Given the description of an element on the screen output the (x, y) to click on. 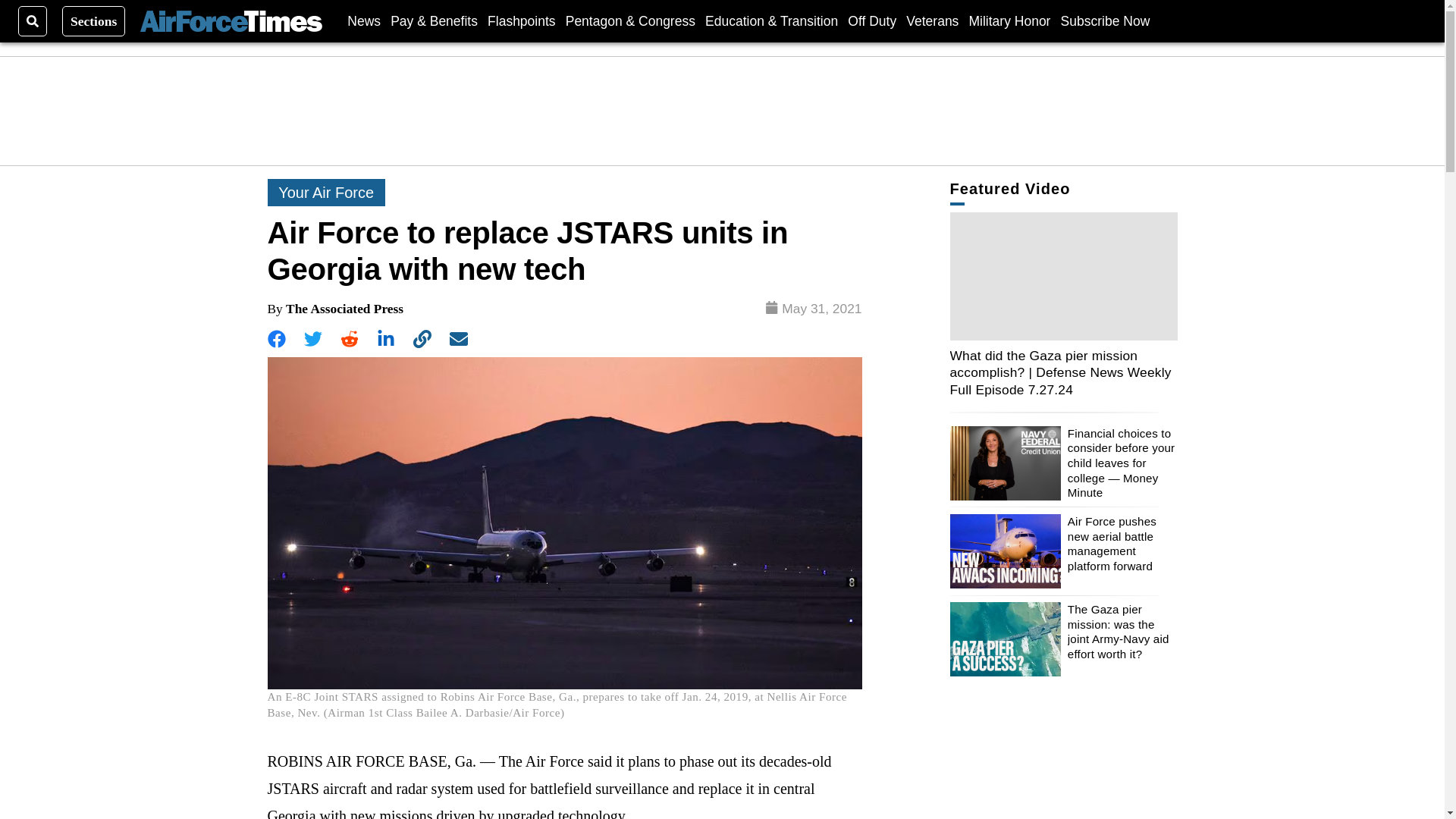
Military Honor (1010, 20)
News (363, 20)
Flashpoints (521, 20)
Off Duty (871, 20)
Sections (93, 20)
Air Force Times Logo (230, 20)
Veterans (931, 20)
